Given the description of an element on the screen output the (x, y) to click on. 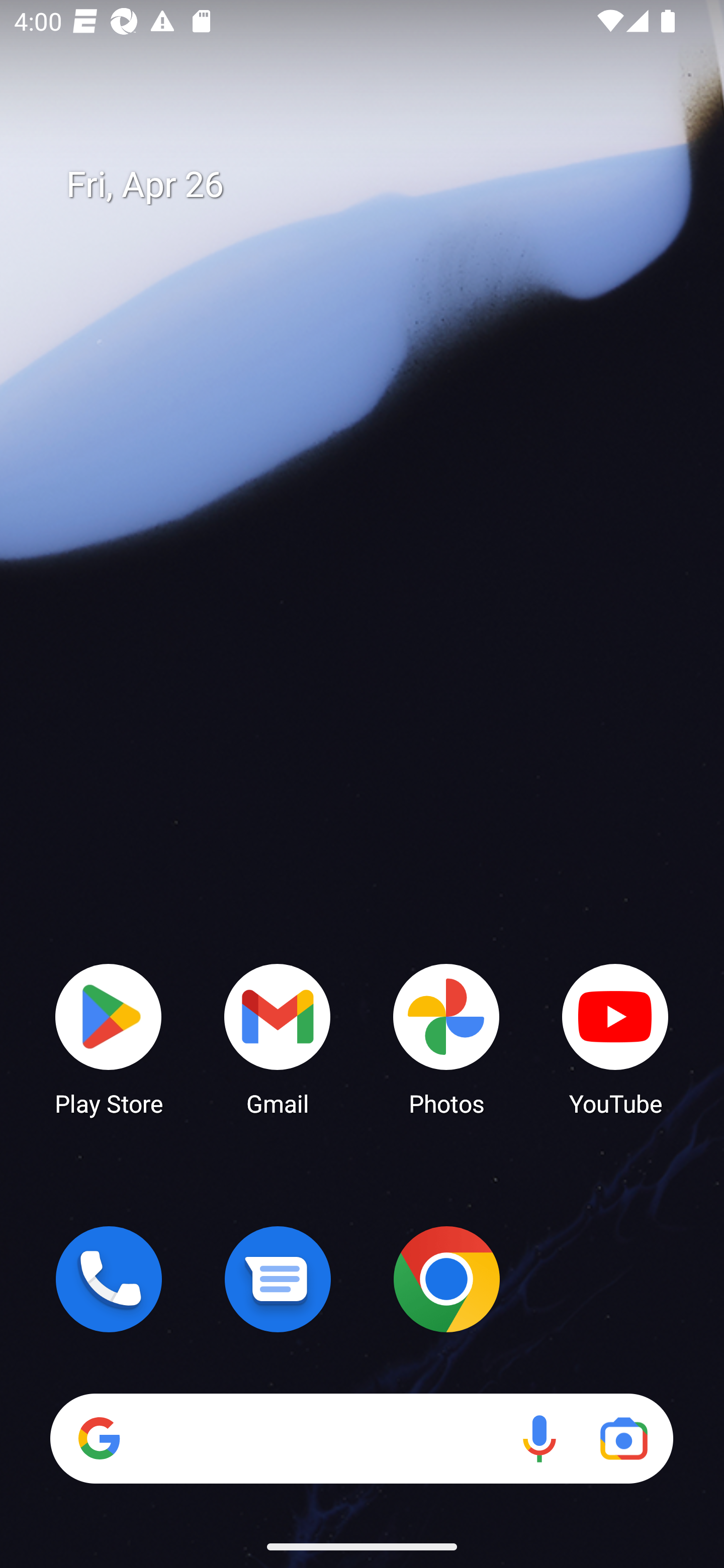
Fri, Apr 26 (375, 184)
Play Store (108, 1038)
Gmail (277, 1038)
Photos (445, 1038)
YouTube (615, 1038)
Phone (108, 1279)
Messages (277, 1279)
Chrome (446, 1279)
Search Voice search Google Lens (361, 1438)
Voice search (539, 1438)
Google Lens (623, 1438)
